Given the description of an element on the screen output the (x, y) to click on. 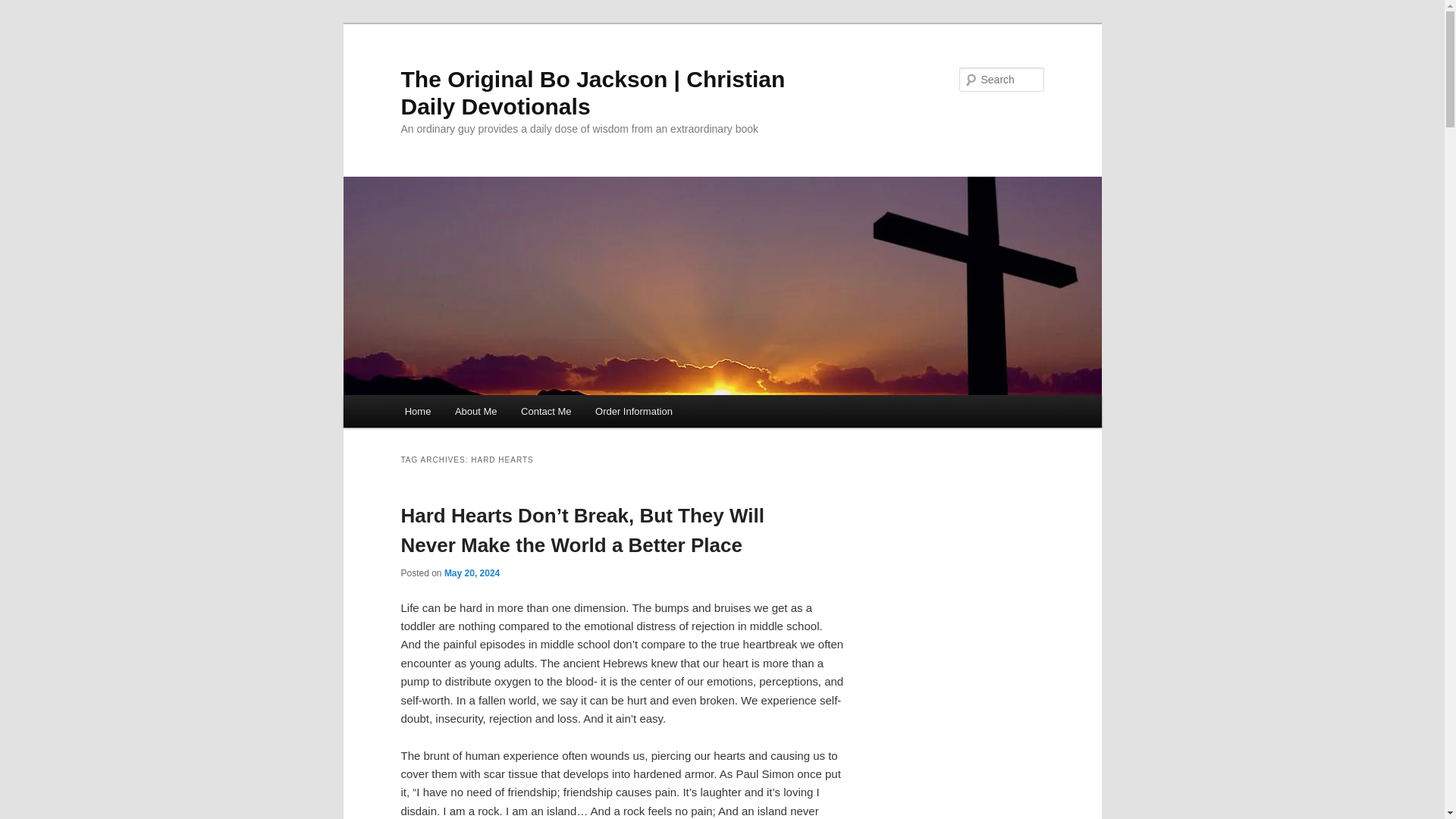
Contact Me (545, 410)
Home (417, 410)
Order Information (633, 410)
May 20, 2024 (471, 573)
6:00 am (471, 573)
About Me (475, 410)
Search (24, 8)
